Given the description of an element on the screen output the (x, y) to click on. 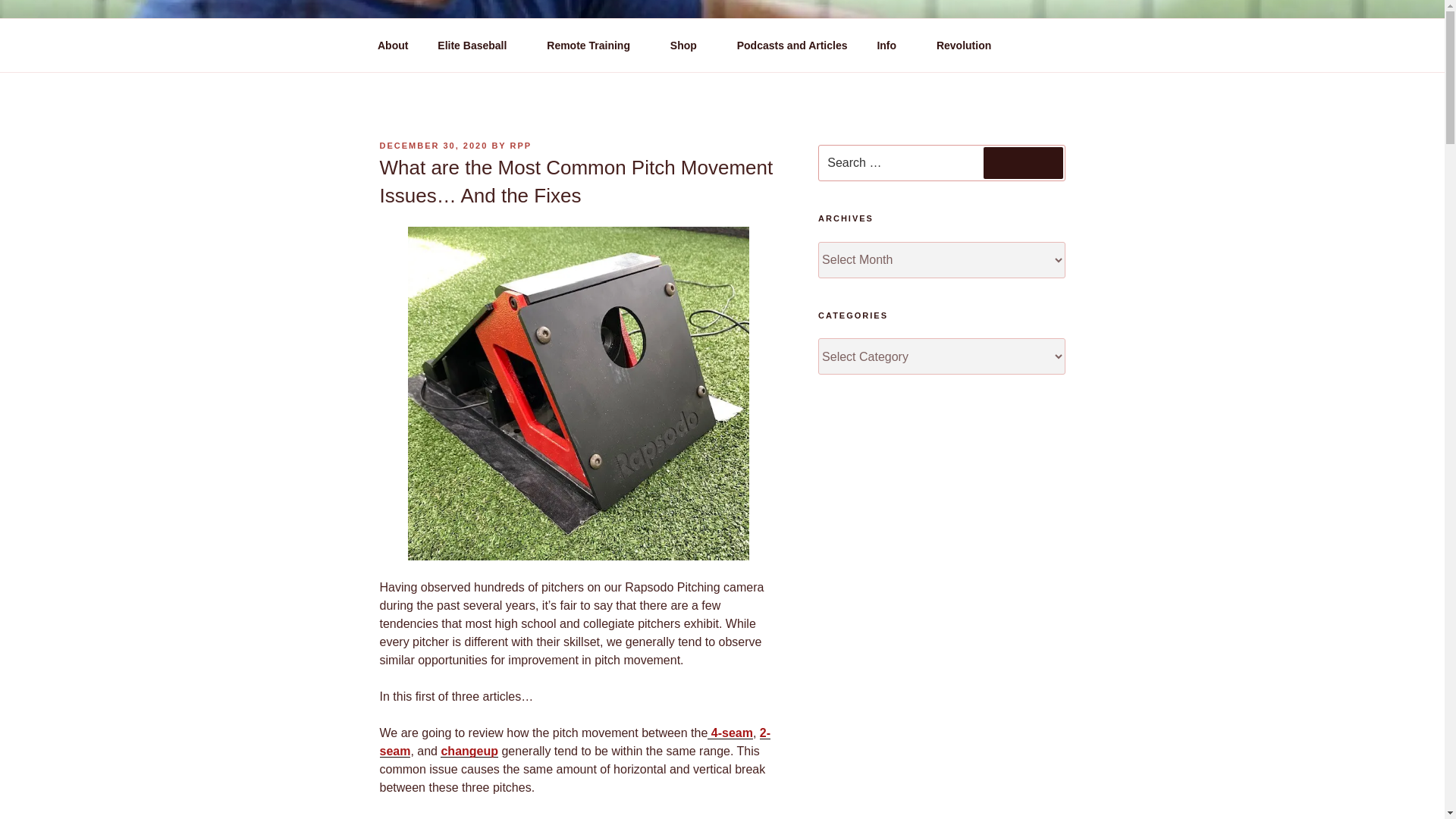
RPP BASEBALL (497, 52)
About (392, 45)
Elite Baseball (478, 45)
Remote Training (593, 45)
